Given the description of an element on the screen output the (x, y) to click on. 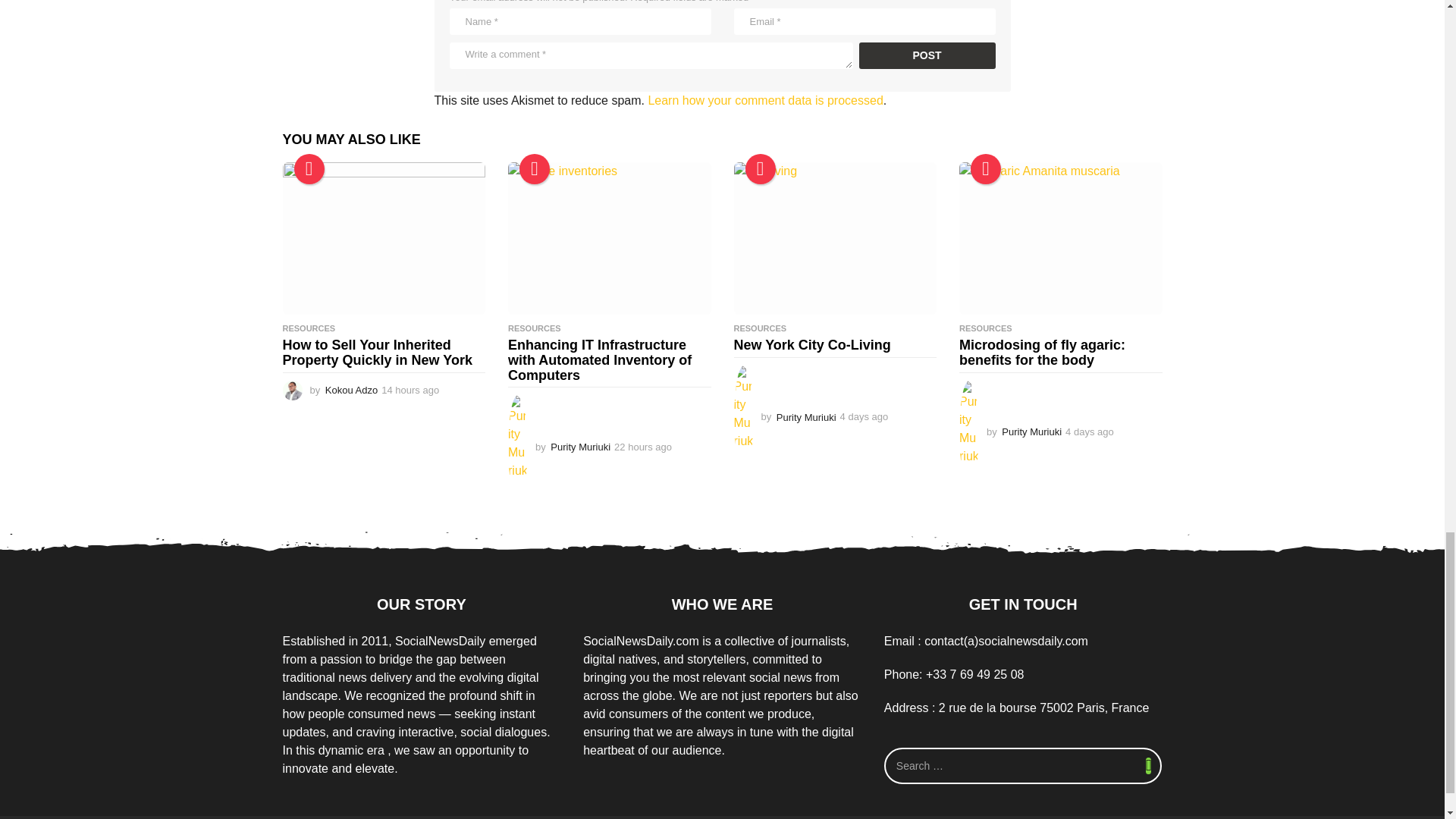
Trending (534, 168)
Trending (309, 168)
How to Sell Your Inherited Property Quickly in New York (383, 238)
Hot (759, 168)
Microdosing of fly agaric: benefits for the body (1060, 238)
Learn how your comment data is processed (764, 100)
Post (926, 55)
Hot (986, 168)
Post (926, 55)
New York City Co-Living (835, 238)
